Given the description of an element on the screen output the (x, y) to click on. 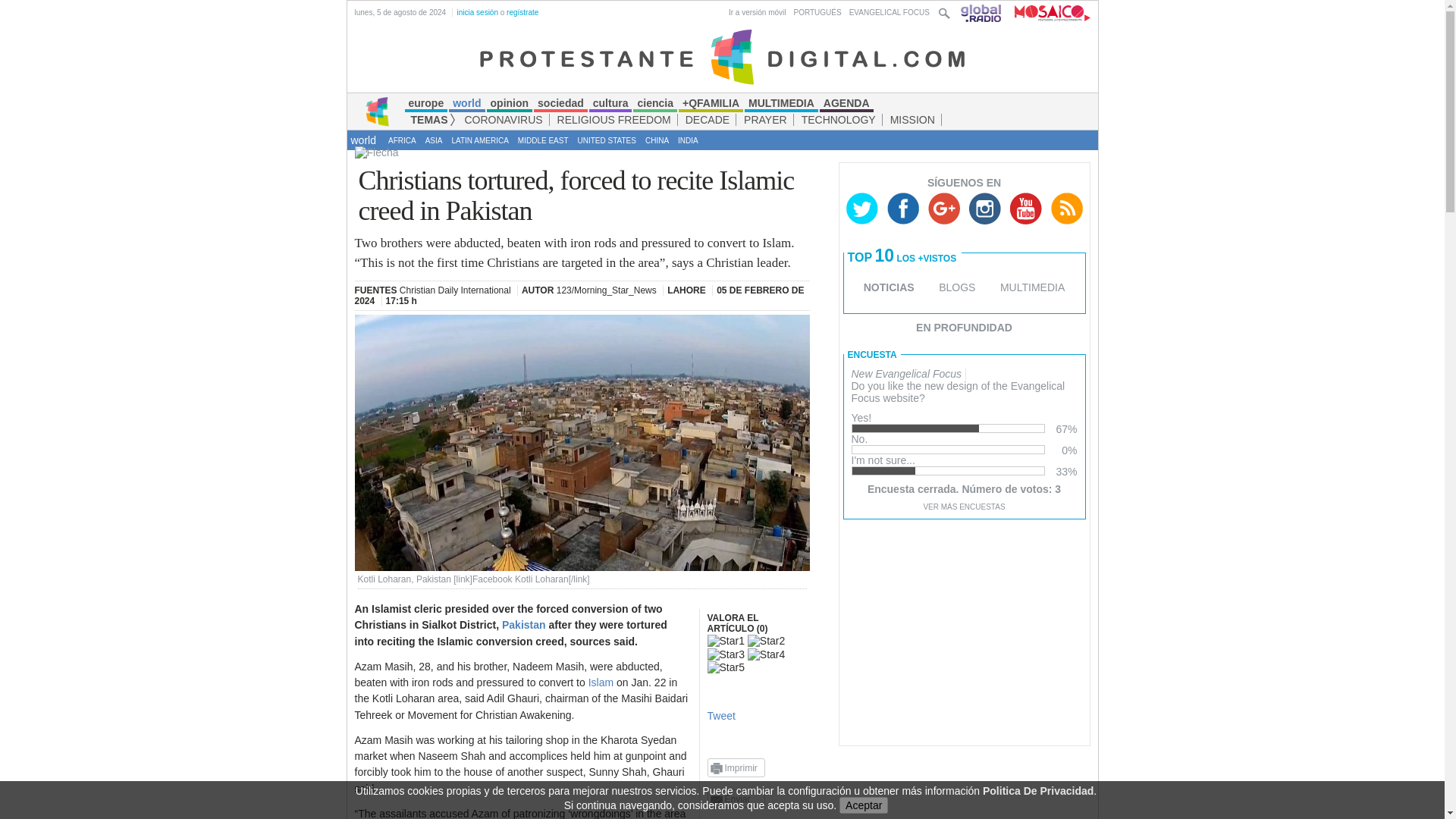
world (362, 140)
